Given the description of an element on the screen output the (x, y) to click on. 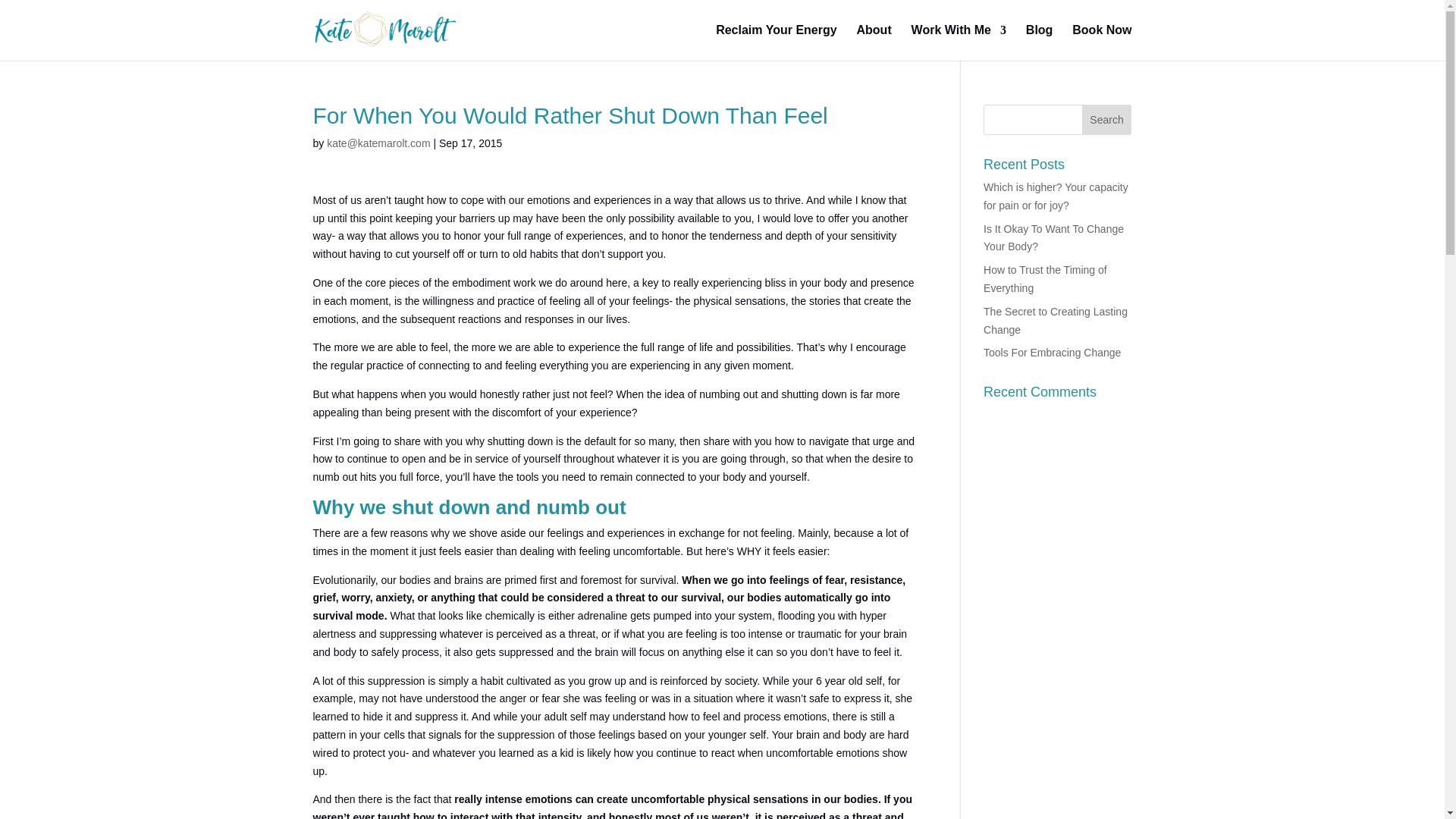
Search (1106, 119)
Work With Me (958, 42)
Which is higher? Your capacity for pain or for joy? (1056, 195)
Search (1106, 119)
Tools For Embracing Change (1052, 352)
The Secret to Creating Lasting Change (1055, 320)
Is It Okay To Want To Change Your Body? (1054, 237)
How to Trust the Timing of Everything (1045, 278)
Book Now (1101, 42)
Reclaim Your Energy (775, 42)
About (874, 42)
